Given the description of an element on the screen output the (x, y) to click on. 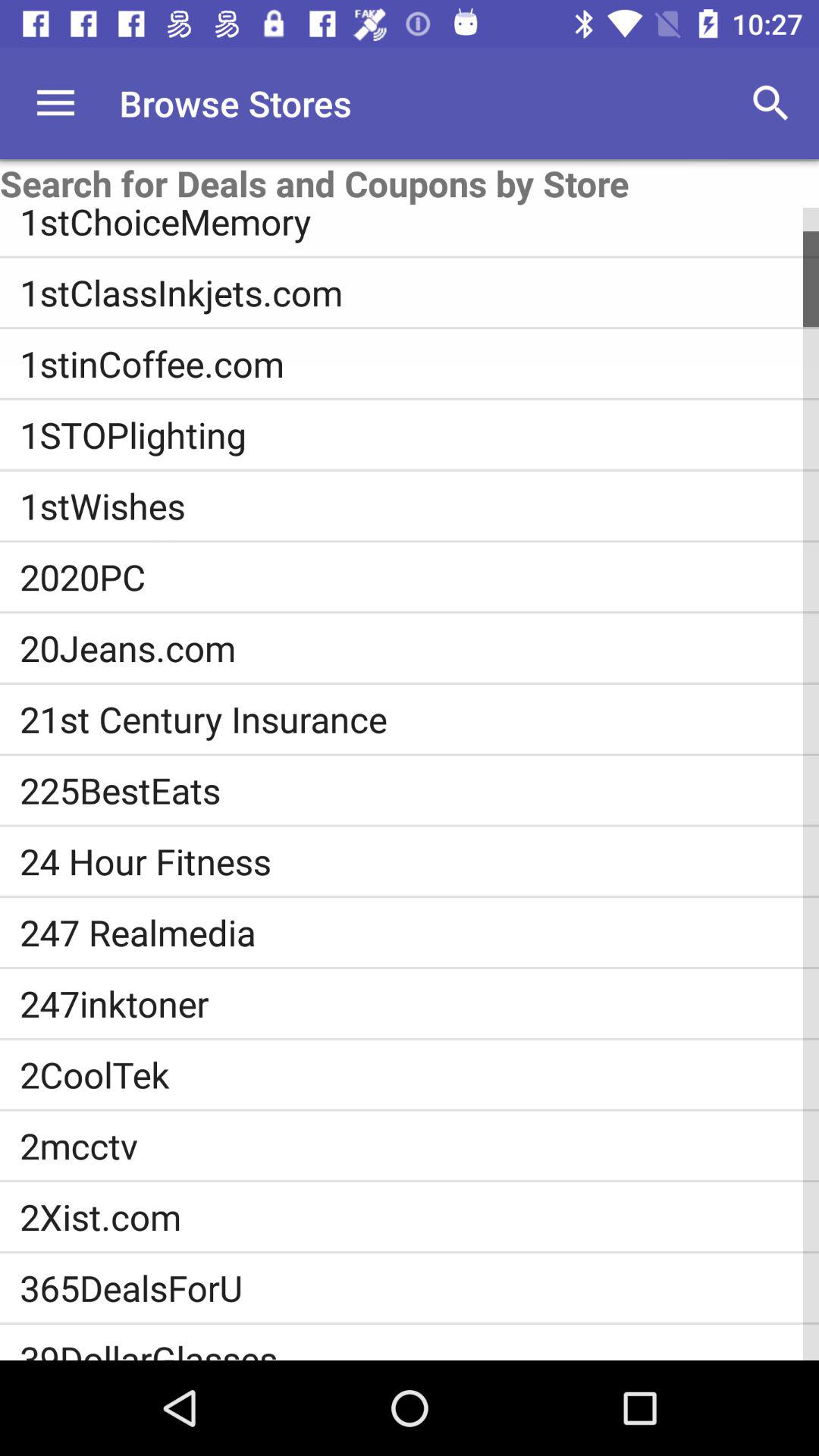
tap the item below 1stchoicememory icon (419, 292)
